Given the description of an element on the screen output the (x, y) to click on. 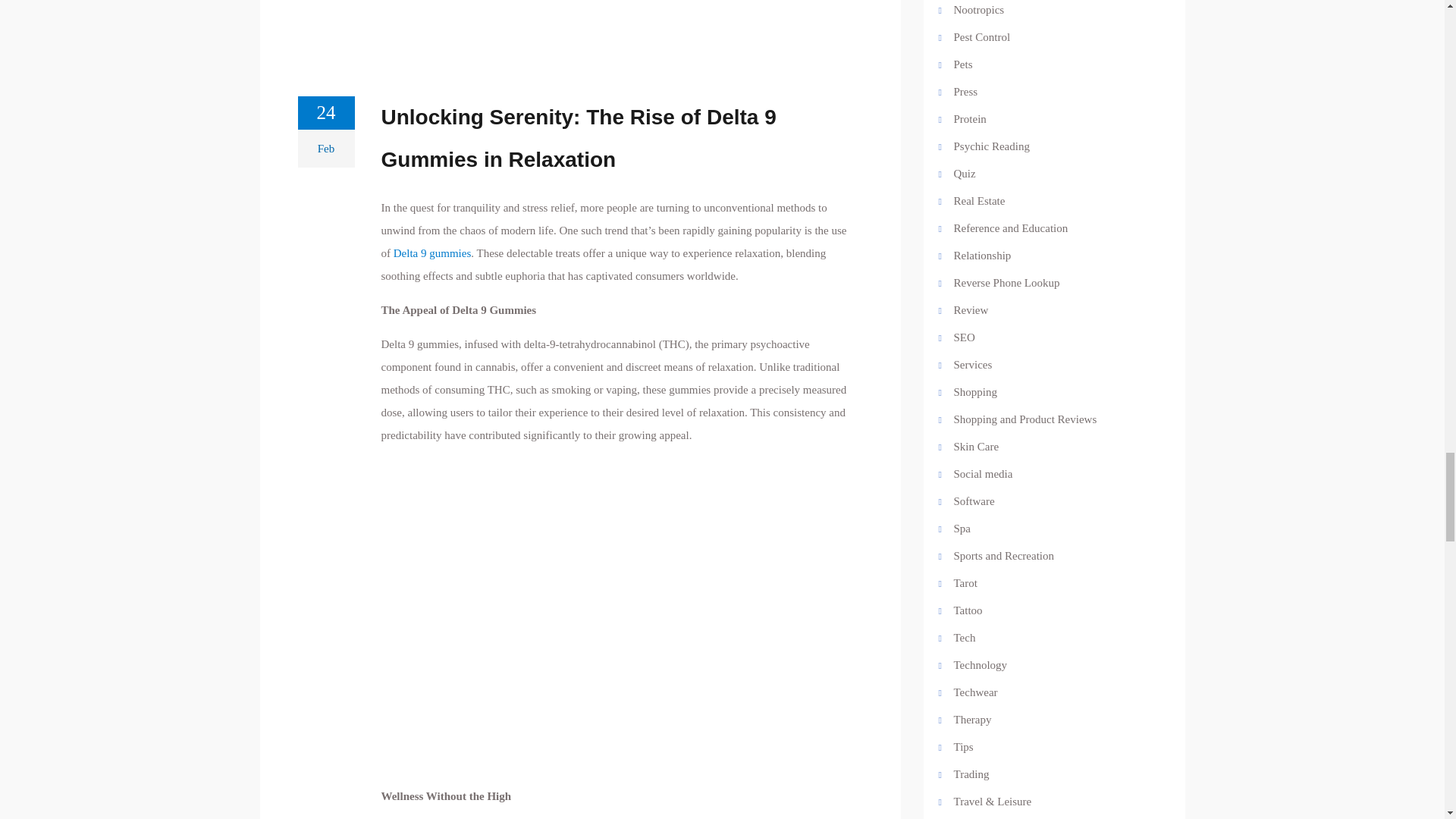
Delta 9 gummies (431, 252)
